Given the description of an element on the screen output the (x, y) to click on. 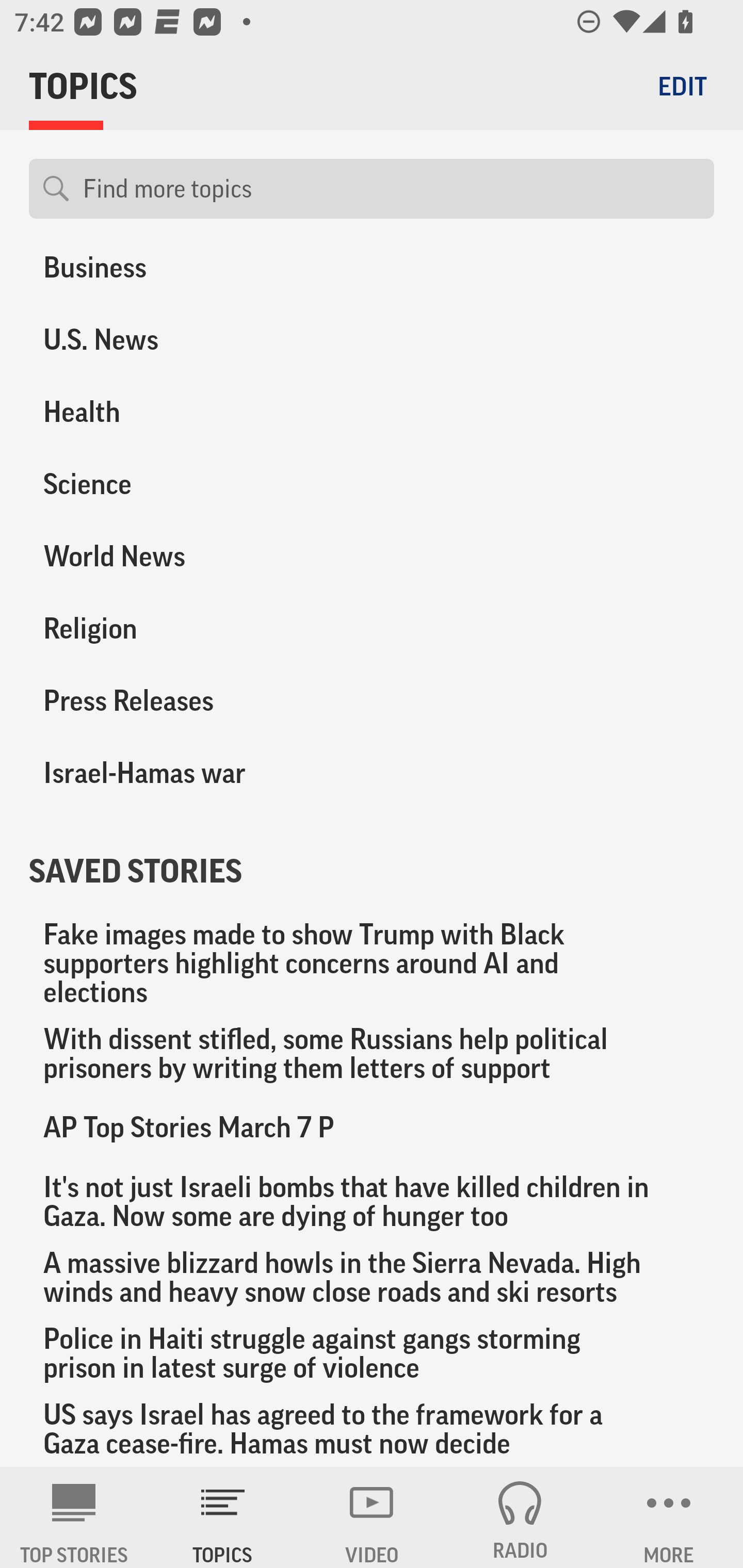
EDIT (682, 86)
Find more topics (391, 188)
Business (185, 275)
U.S. News (185, 340)
Health (185, 412)
Science (185, 484)
World News (185, 556)
Religion (185, 628)
Press Releases (185, 700)
Israel-Hamas war (185, 772)
AP Top Stories March 7 P (371, 1127)
AP News TOP STORIES (74, 1517)
TOPICS (222, 1517)
VIDEO (371, 1517)
RADIO (519, 1517)
MORE (668, 1517)
